Given the description of an element on the screen output the (x, y) to click on. 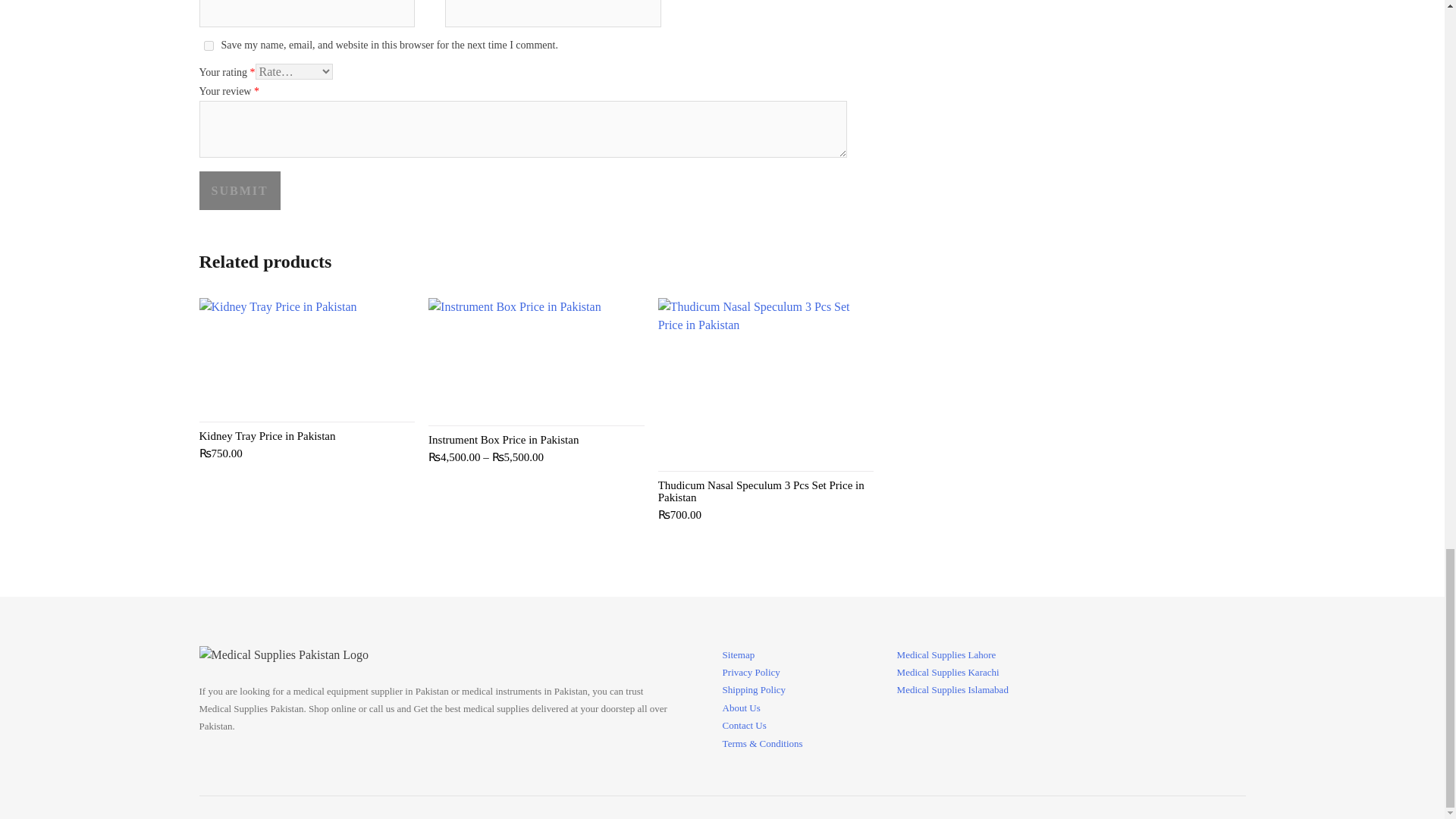
yes (207, 45)
Submit (238, 190)
